Given the description of an element on the screen output the (x, y) to click on. 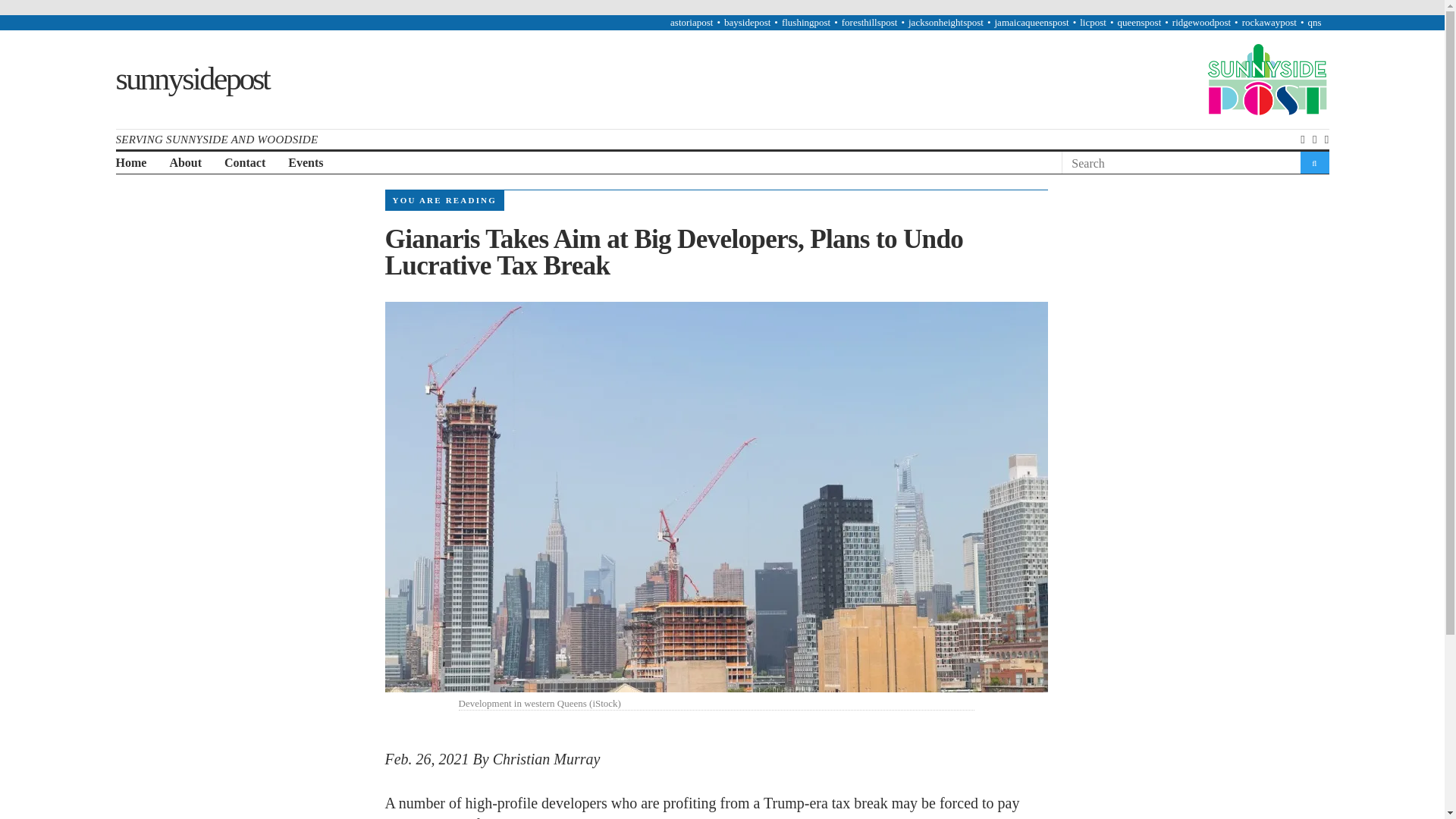
ridgewoodpost (1201, 21)
baysidepost (746, 21)
flushingpost (805, 21)
Home (131, 163)
qns (1313, 21)
foresthillspost (869, 21)
About (185, 163)
jacksonheightspost (946, 21)
astoriapost (691, 21)
rockawaypost (1269, 21)
Contact (244, 163)
licpost (1093, 21)
Events (305, 163)
jamaicaqueenspost (1031, 21)
queenspost (1138, 21)
